Given the description of an element on the screen output the (x, y) to click on. 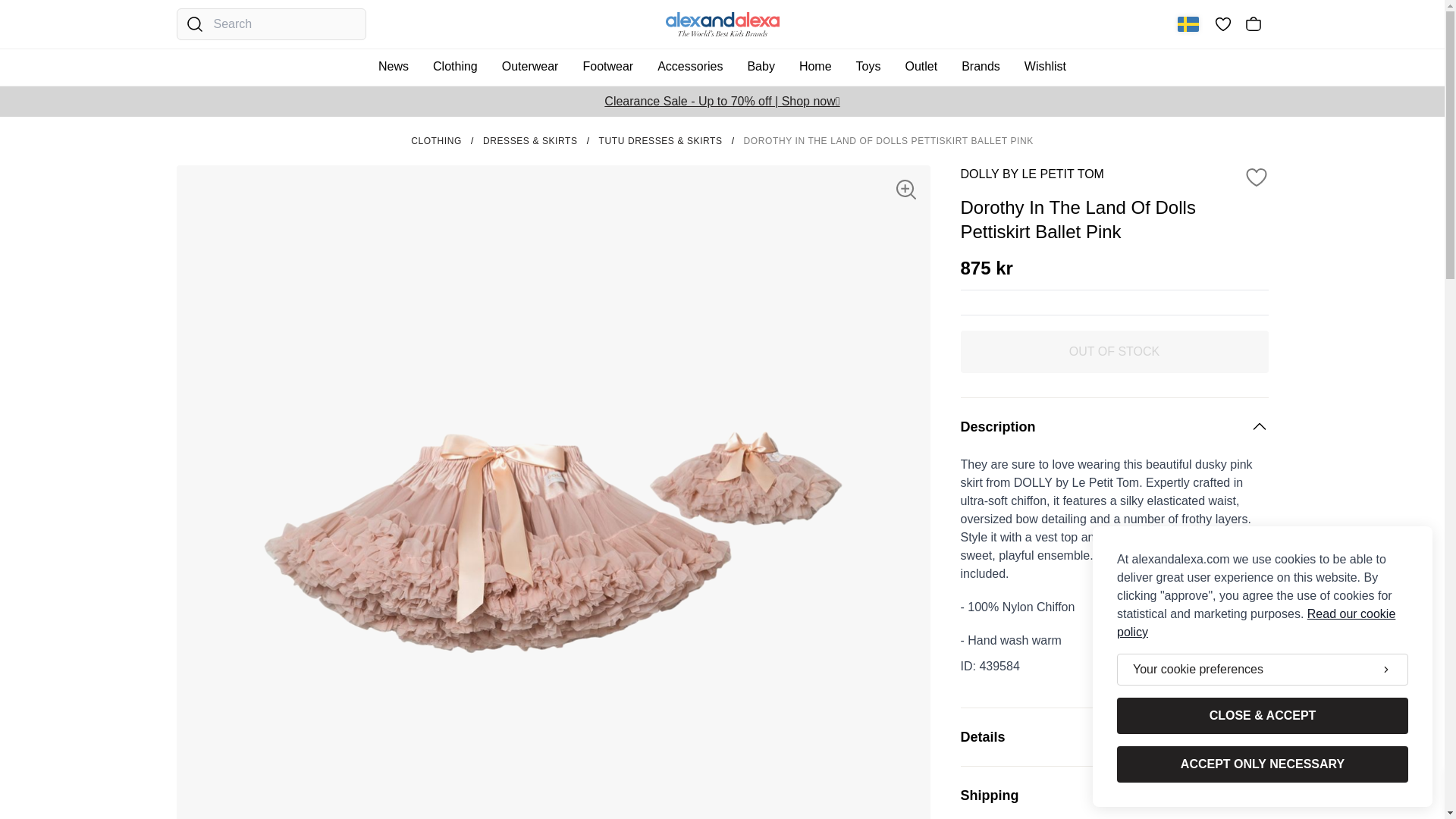
Outerwear (530, 67)
News (393, 67)
Clothing (454, 67)
Brands (980, 67)
Accessories (689, 67)
Outlet (920, 67)
Home (815, 67)
Baby (760, 67)
Wishlist (1045, 67)
Footwear (607, 67)
